Given the description of an element on the screen output the (x, y) to click on. 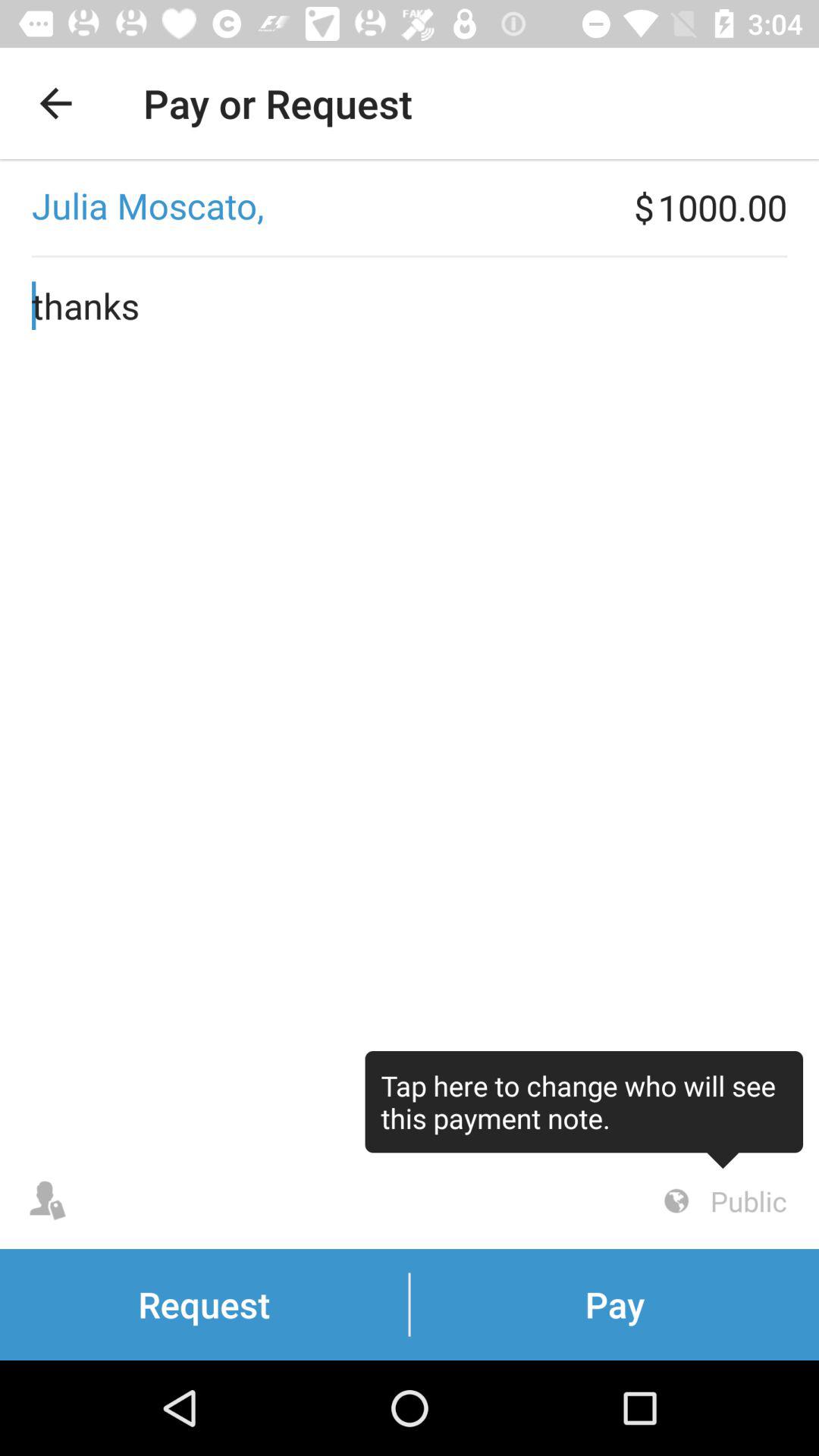
jump until thanks icon (409, 705)
